Given the description of an element on the screen output the (x, y) to click on. 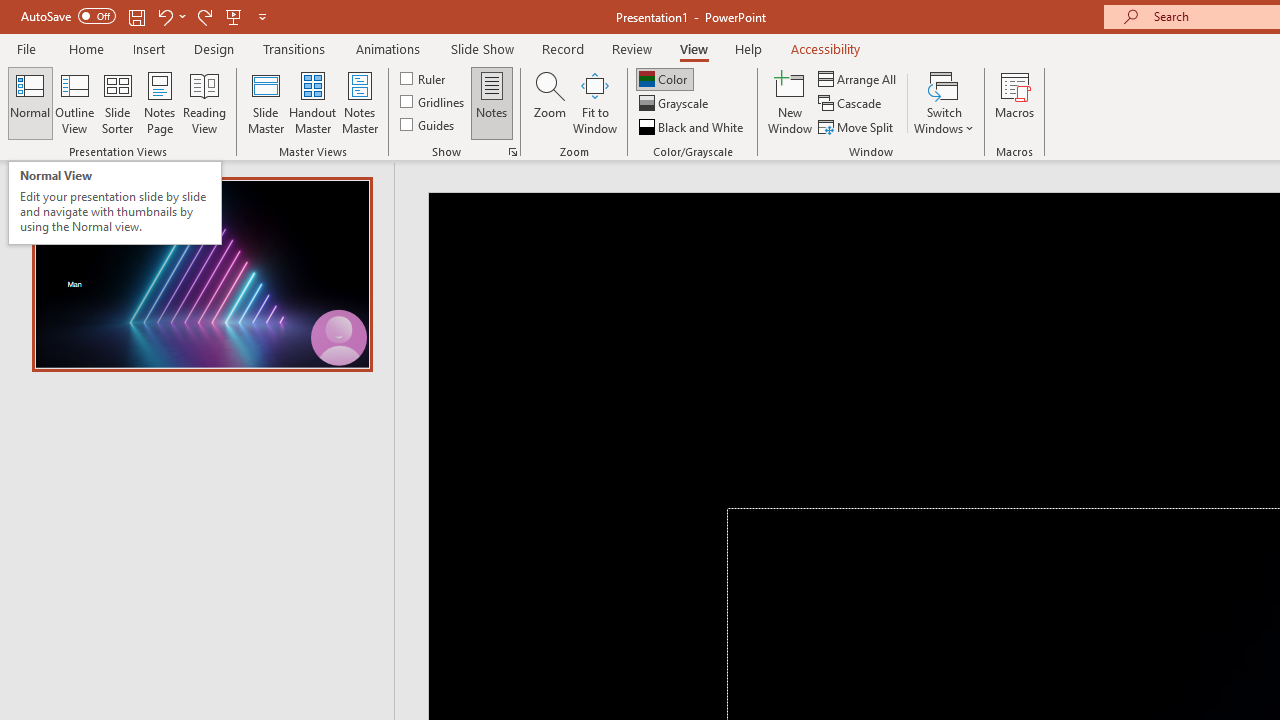
Slide Master (265, 102)
Outline View (74, 102)
Black and White (693, 126)
Grid Settings... (512, 151)
Ruler (423, 78)
Color (664, 78)
